Given the description of an element on the screen output the (x, y) to click on. 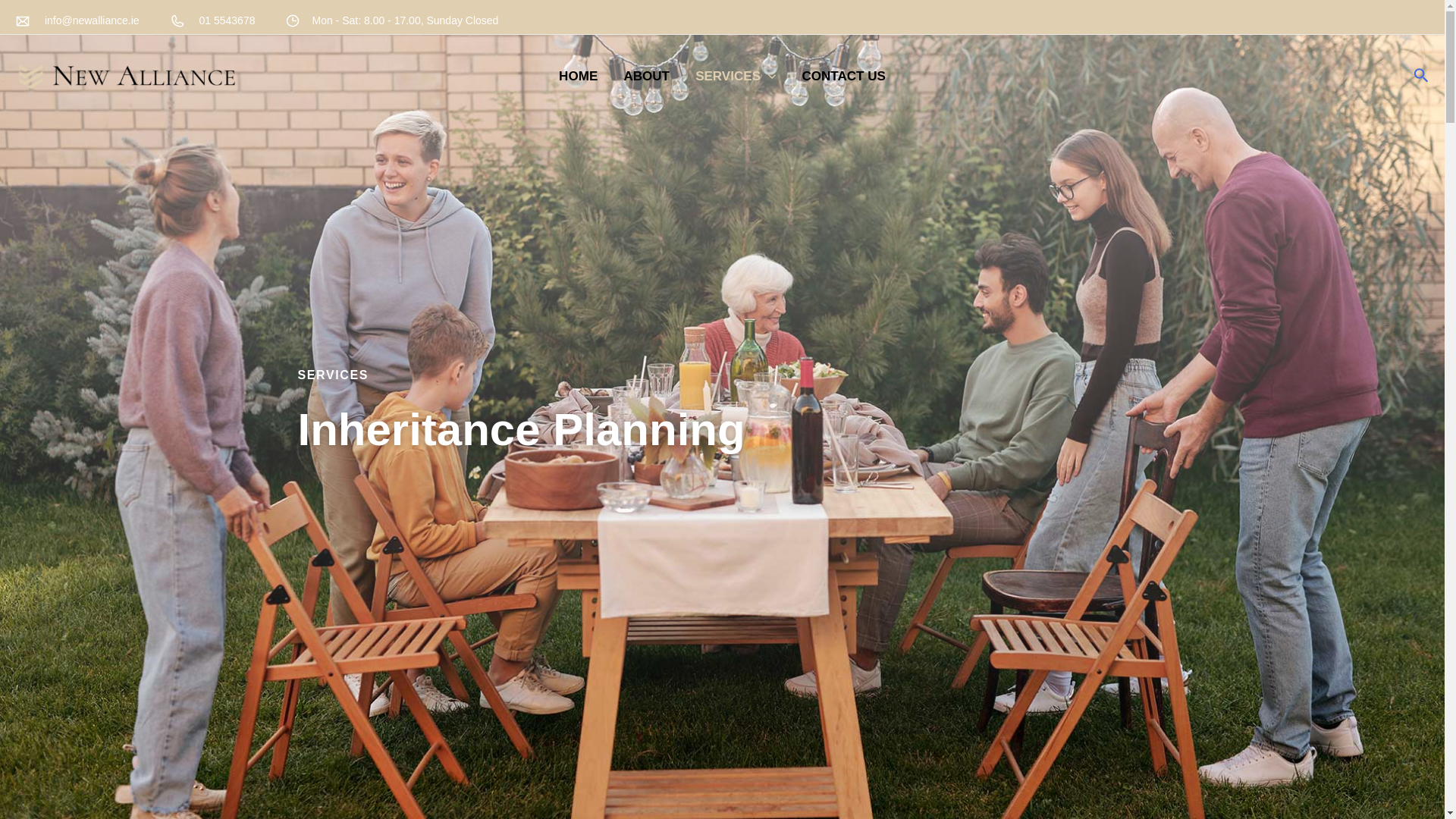
01 5543678 (213, 20)
CONTACT US (843, 76)
SERVICES (735, 76)
HOME (578, 76)
ABOUT (646, 76)
